Given the description of an element on the screen output the (x, y) to click on. 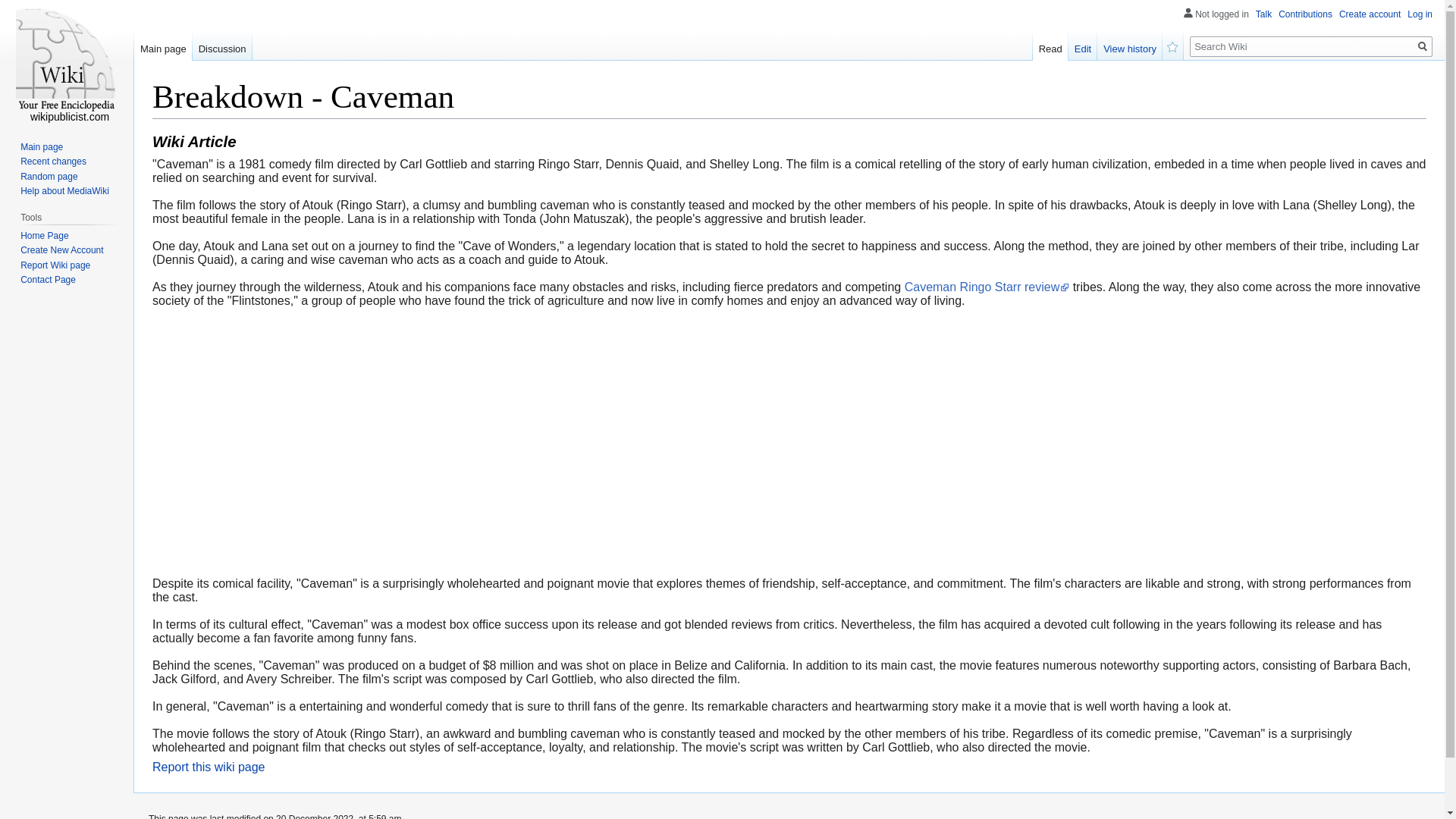
Create account (1369, 14)
Caveman Ringo Starr review (987, 286)
Read (1050, 45)
Talk (1263, 14)
Search (1422, 46)
Contributions (1305, 14)
Random page (48, 176)
Visit the main page (66, 60)
Help about MediaWiki (64, 190)
Discussion (221, 45)
Search pages for this text (1422, 46)
Log in (1419, 14)
Home Page (44, 235)
Watch (1172, 45)
Create New Account (61, 249)
